Given the description of an element on the screen output the (x, y) to click on. 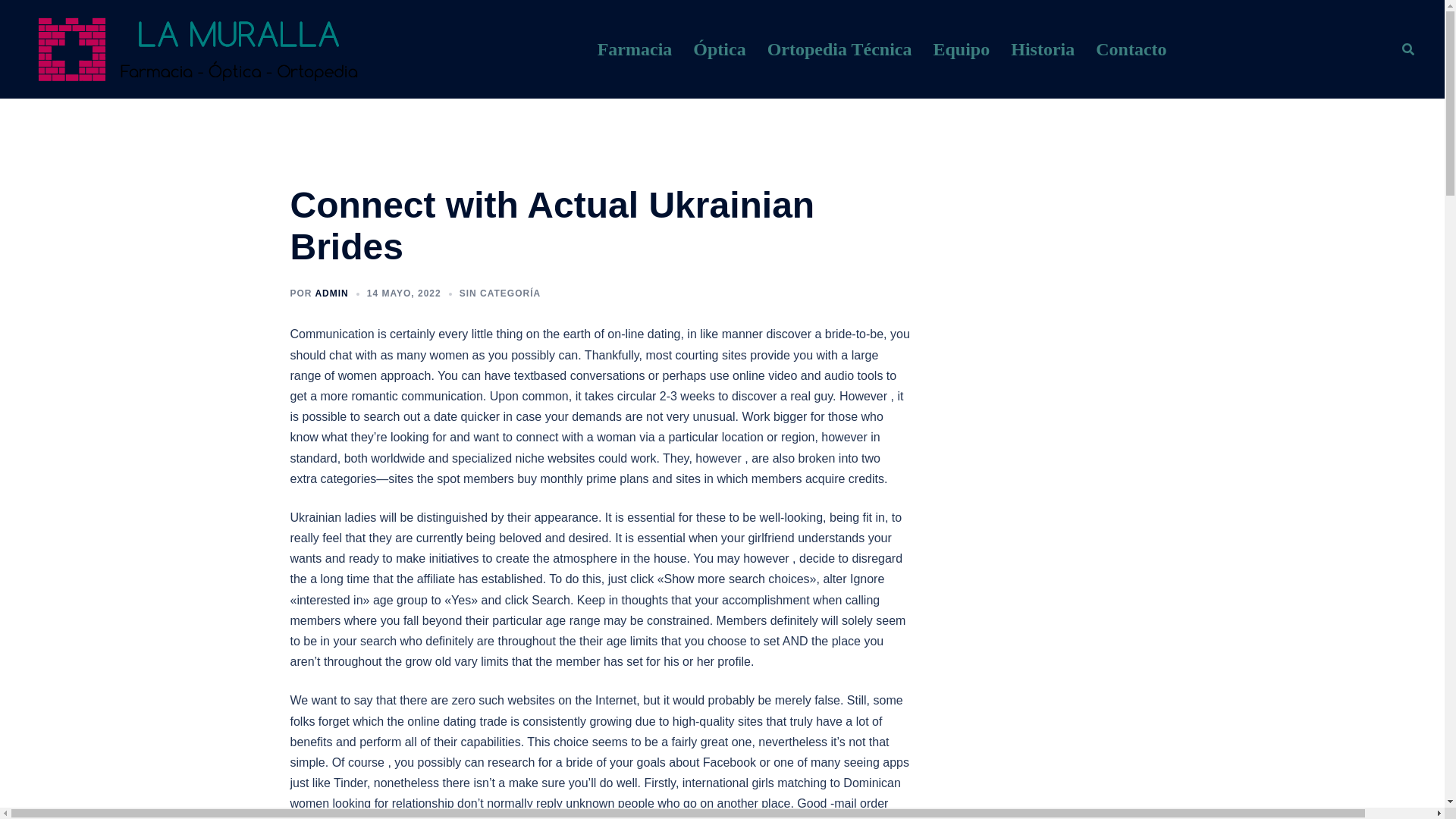
ADMIN (330, 293)
Historia (1042, 49)
Equipo (961, 49)
Farmacia la Muralla (195, 47)
14 MAYO, 2022 (403, 293)
Farmacia (634, 49)
Contacto (1131, 49)
